Given the description of an element on the screen output the (x, y) to click on. 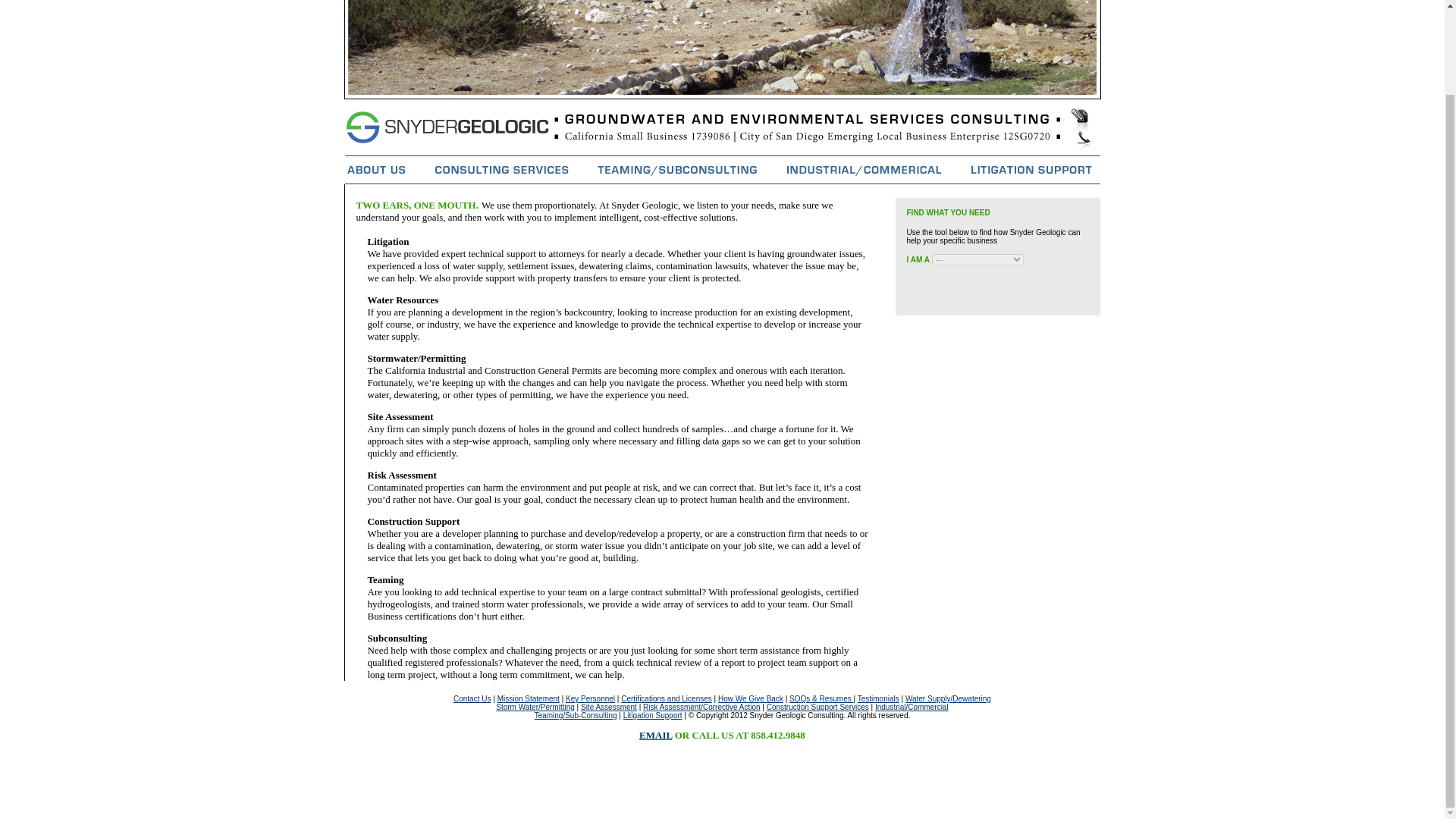
Litigation Support (652, 715)
Key Personnel (590, 698)
Contact Us (471, 698)
Construction Support Services (818, 706)
Testimonials (878, 698)
How We Give Back (750, 698)
Certifications and Licenses (666, 698)
EMAIL (655, 735)
Site Assessment (608, 706)
Mission Statement (528, 698)
